Given the description of an element on the screen output the (x, y) to click on. 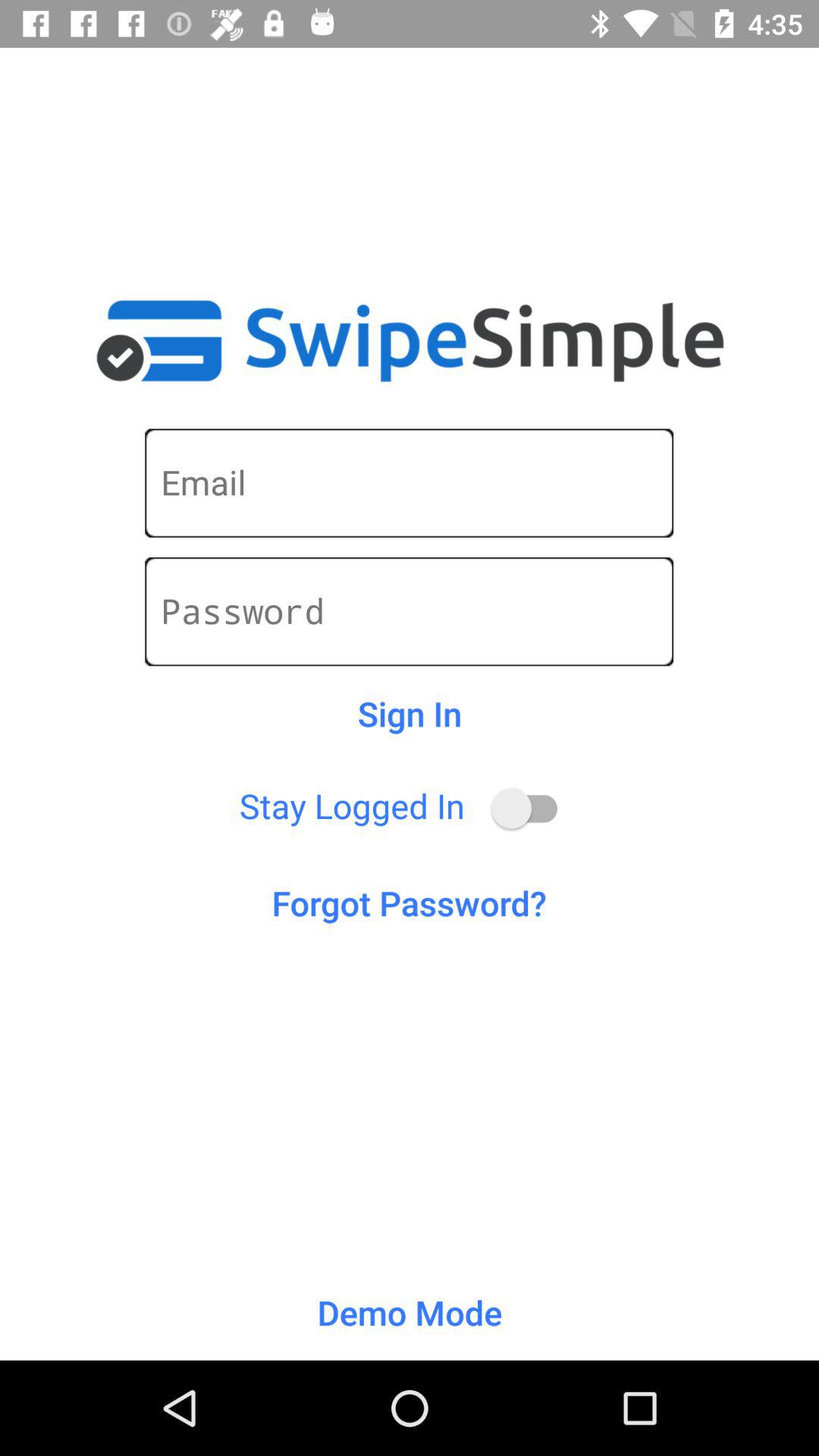
turn on icon above the demo mode (408, 902)
